Given the description of an element on the screen output the (x, y) to click on. 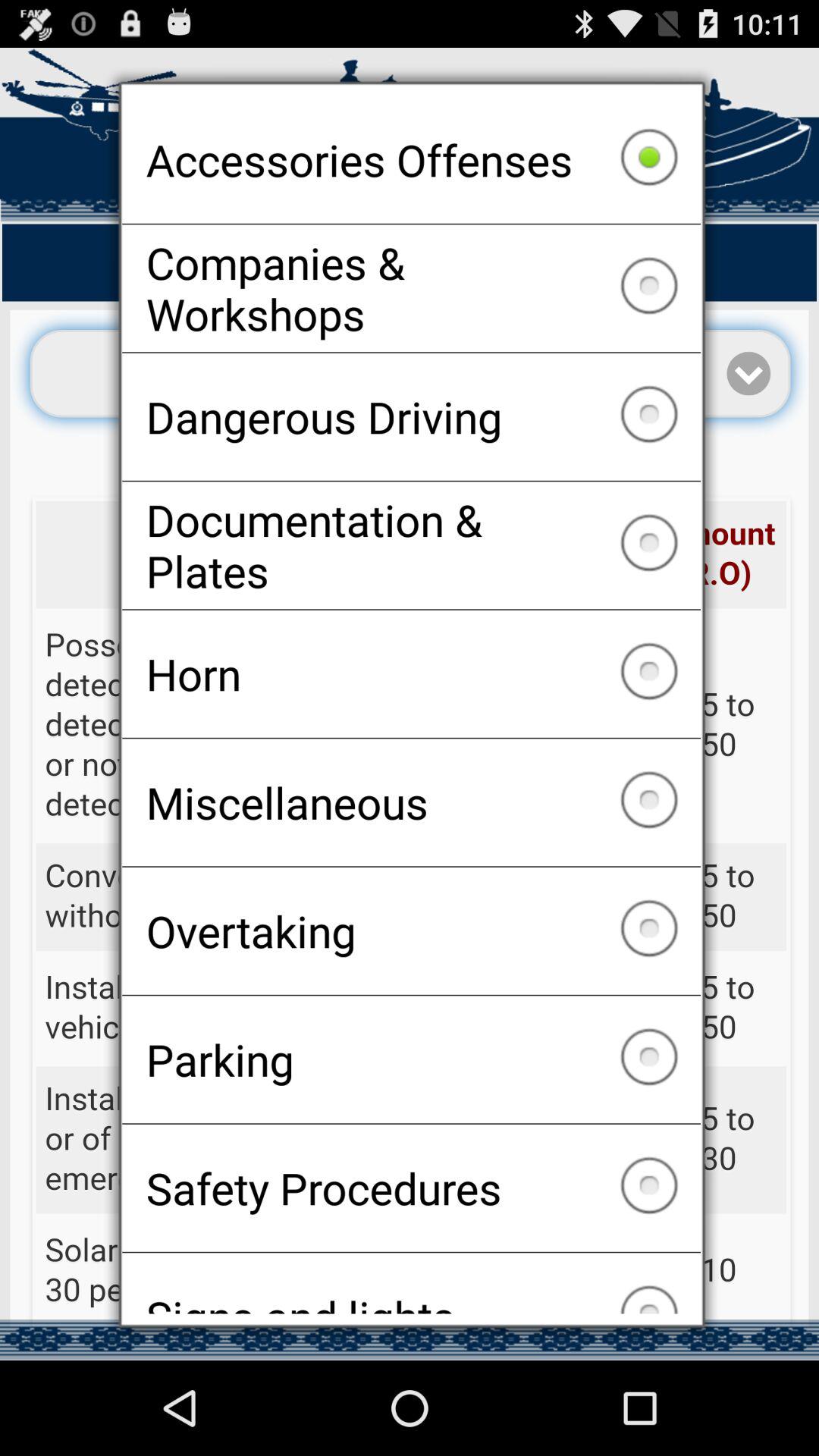
press documentation & plates item (411, 545)
